Given the description of an element on the screen output the (x, y) to click on. 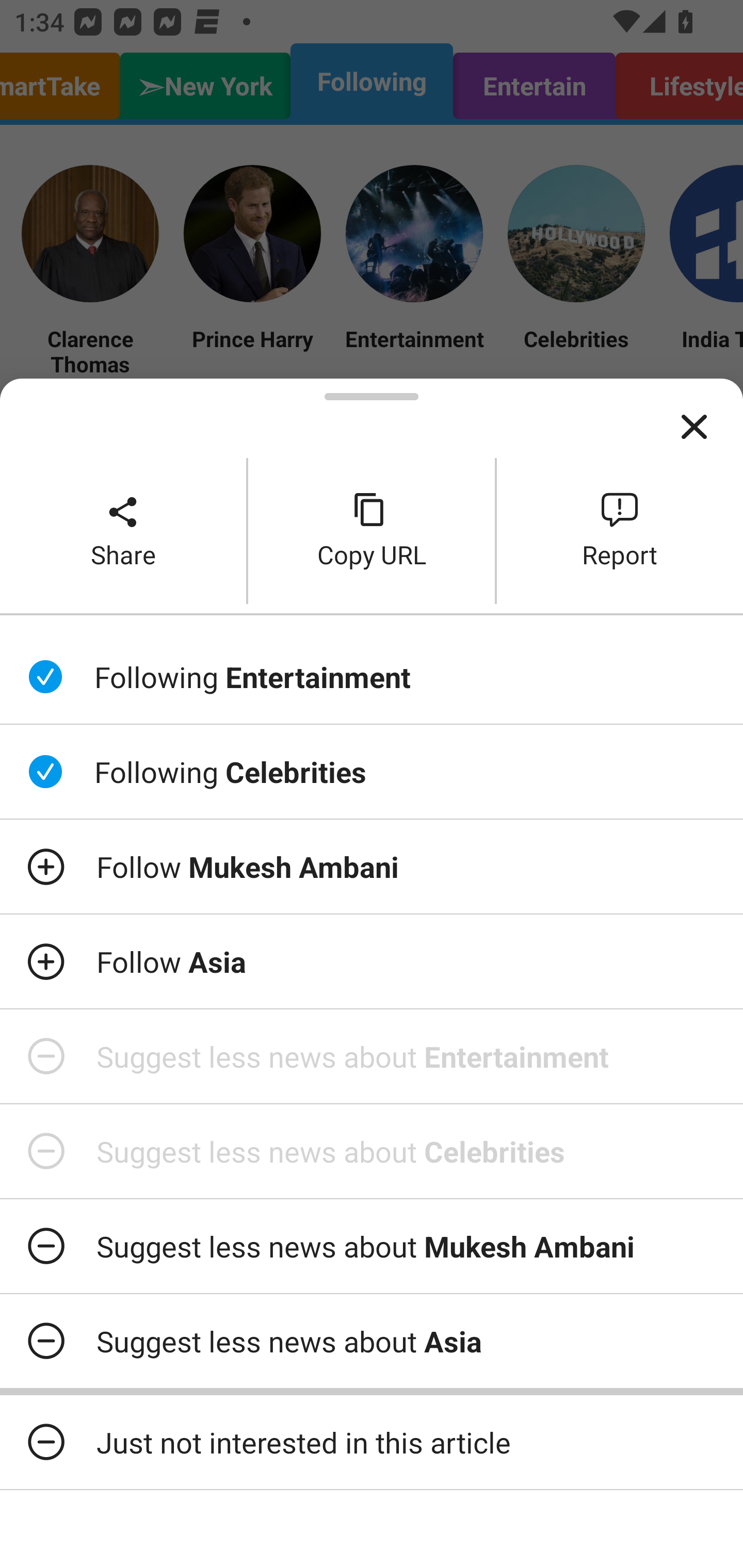
Close (694, 426)
Share (122, 530)
Copy URL (371, 530)
Report (620, 530)
Following Entertainment (371, 677)
Following Celebrities (371, 771)
Follow Mukesh Ambani (371, 867)
Follow Asia (371, 961)
Suggest less news about Mukesh Ambani (371, 1246)
Suggest less news about Asia (371, 1340)
Just not interested in this article (371, 1442)
